Given the description of an element on the screen output the (x, y) to click on. 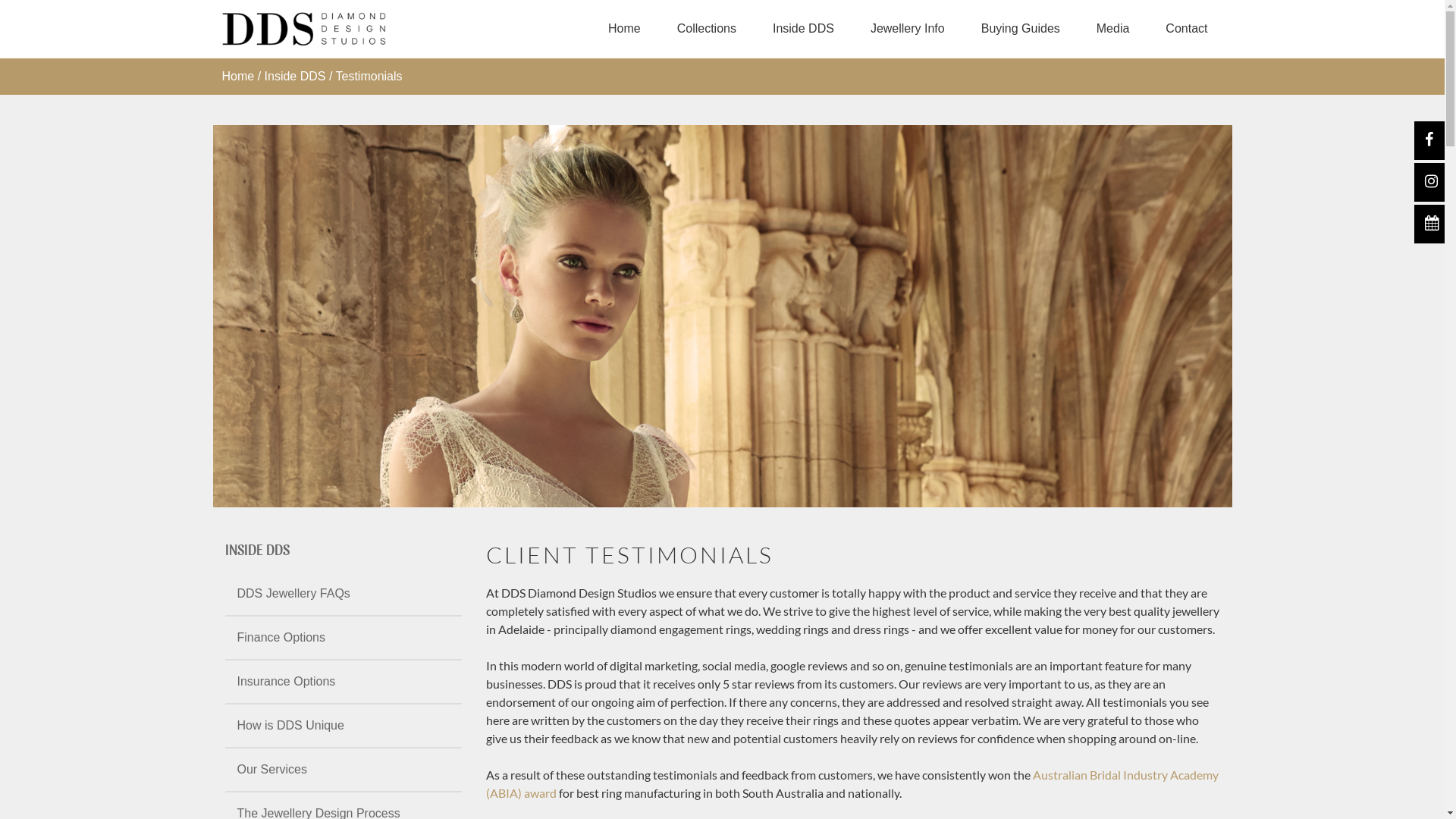
Buying Guides Element type: text (1020, 29)
How is DDS Unique Element type: text (342, 725)
Collections Element type: text (706, 29)
Inside DDS Element type: text (803, 29)
Contact Element type: text (1186, 29)
Jewellery Info Element type: text (907, 29)
DDS Jewellery FAQs Element type: text (342, 593)
Home Element type: text (237, 75)
Media Element type: text (1112, 29)
Home Element type: text (624, 29)
Our Services Element type: text (342, 769)
Insurance Options Element type: text (342, 681)
Finance Options Element type: text (342, 637)
Australian Bridal Industry Academy (ABIA) award Element type: text (851, 783)
